Given the description of an element on the screen output the (x, y) to click on. 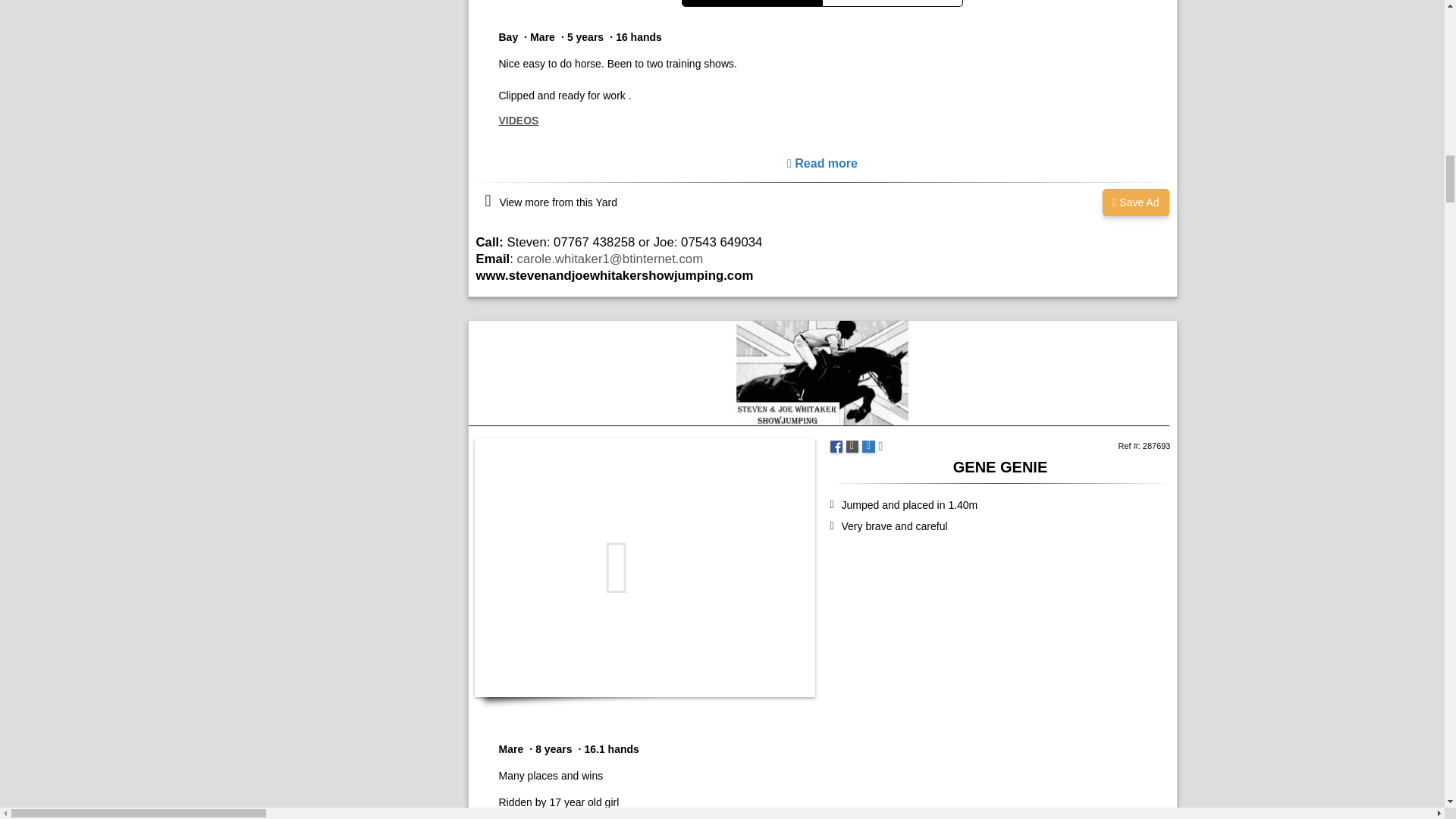
Email a Friend (868, 446)
Print (852, 446)
Share on Facebook (835, 446)
